Given the description of an element on the screen output the (x, y) to click on. 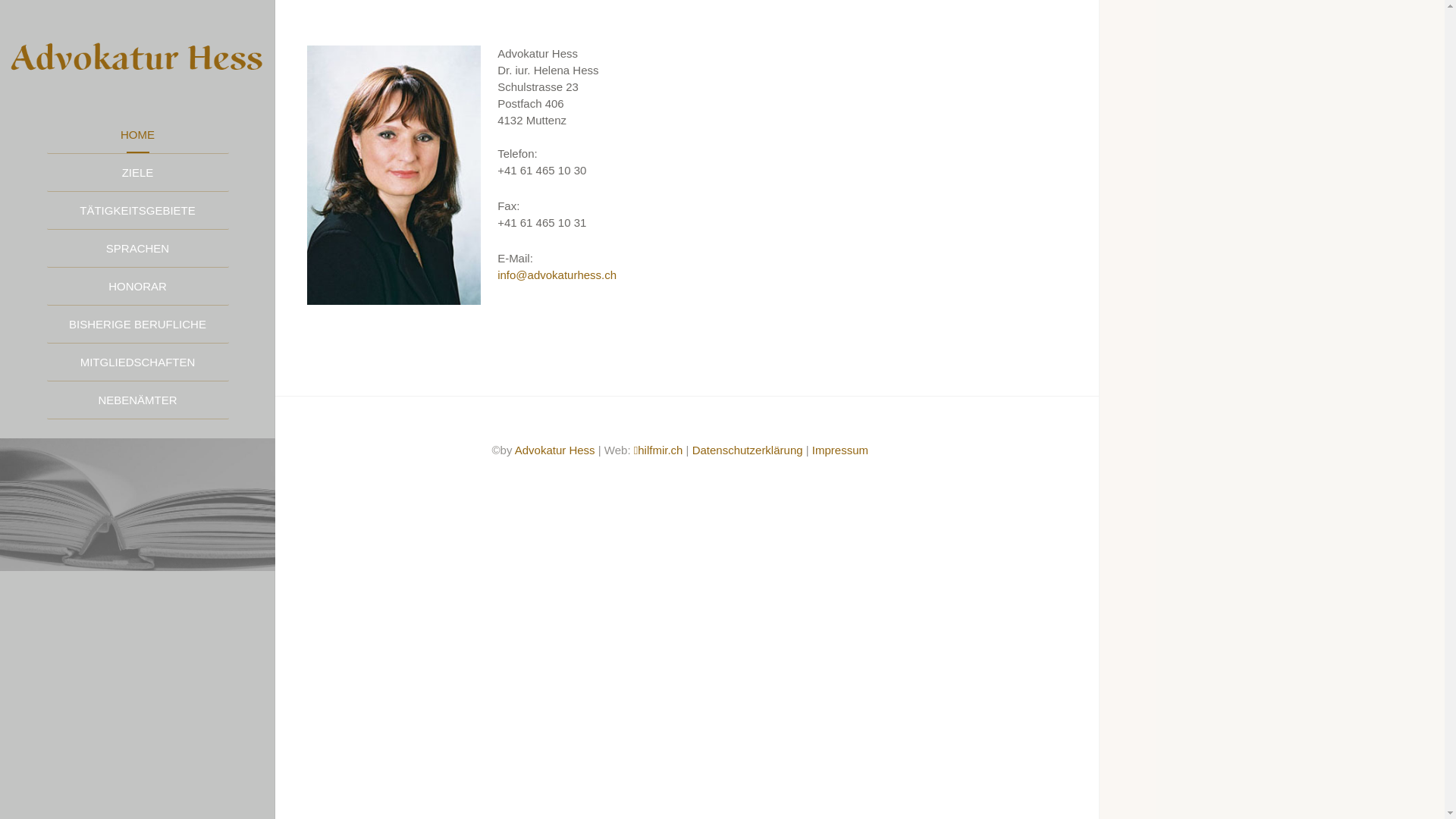
HONORAR Element type: text (138, 286)
info@advokaturhess.ch Element type: text (556, 274)
Advokatur Hess Element type: text (554, 449)
SPRACHEN Element type: text (138, 248)
HOME Element type: text (138, 134)
Impressum Element type: text (840, 449)
MITGLIEDSCHAFTEN Element type: text (138, 362)
ZIELE Element type: text (138, 172)
